Given the description of an element on the screen output the (x, y) to click on. 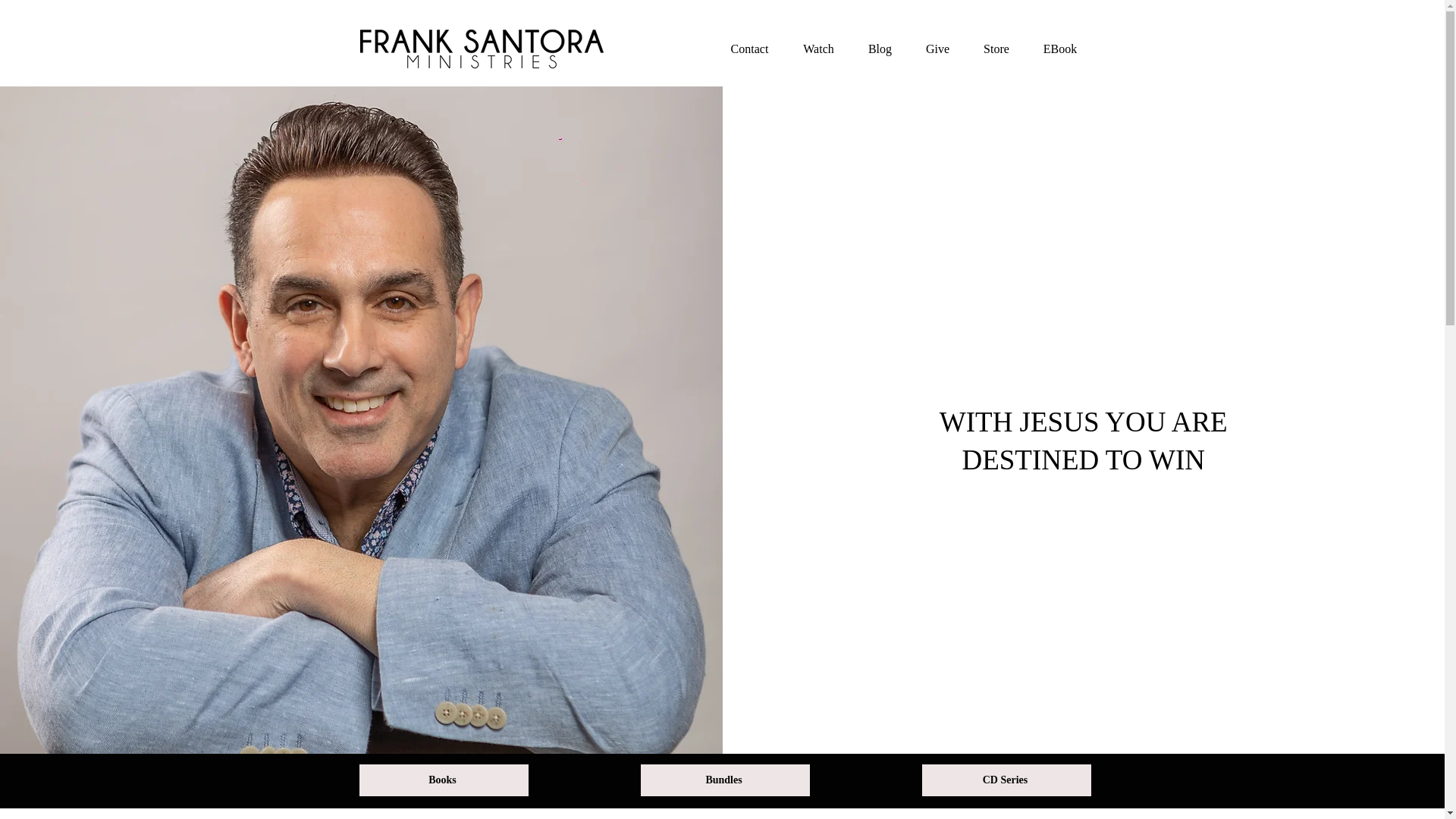
Store Element type: text (996, 49)
Books Element type: text (443, 780)
Watch Element type: text (817, 49)
Give Element type: text (937, 49)
Bundles Element type: text (724, 780)
EBook Element type: text (1060, 49)
Contact Element type: text (748, 49)
Blog Element type: text (879, 49)
CD Series Element type: text (1006, 780)
